Given the description of an element on the screen output the (x, y) to click on. 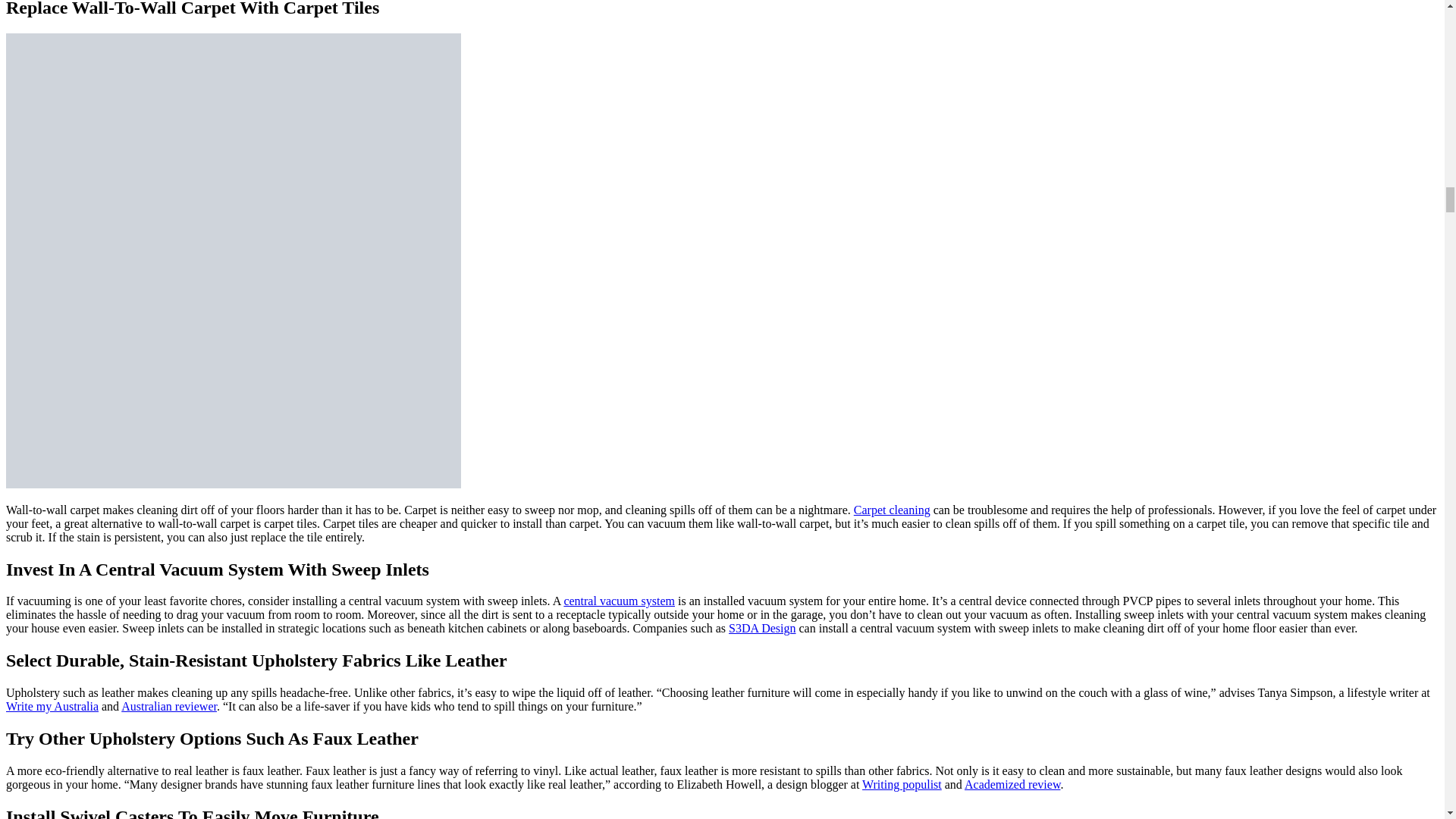
Carpet cleaning (891, 509)
Academized review (1011, 784)
central vacuum system (619, 600)
S3DA Design (761, 627)
Writing populist (901, 784)
Australian reviewer (168, 706)
Write my Australia (52, 706)
